Given the description of an element on the screen output the (x, y) to click on. 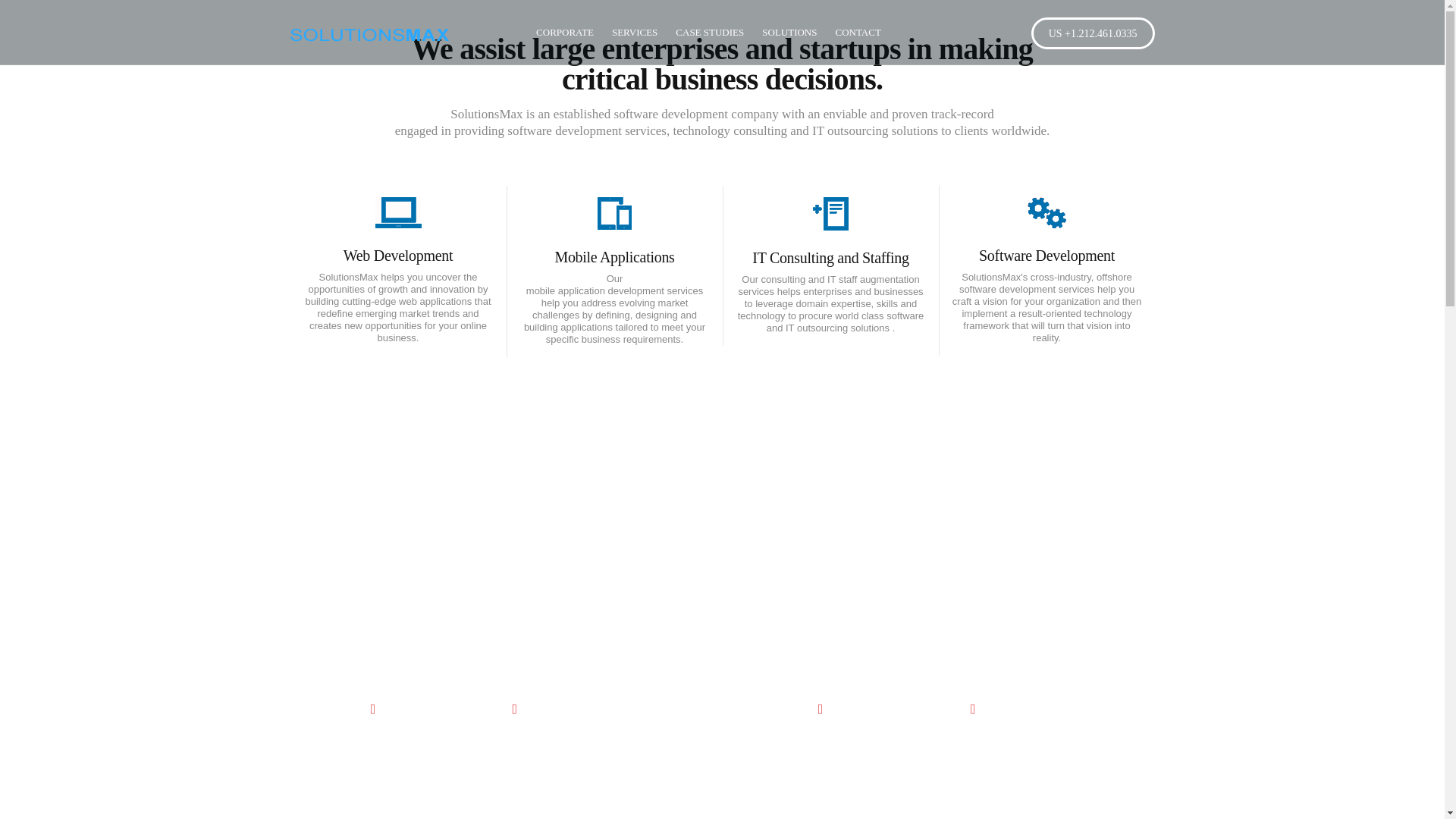
SERVICES (634, 32)
CASE STUDIES (709, 32)
SOLUTIONS (788, 32)
CORPORATE (564, 32)
